Given the description of an element on the screen output the (x, y) to click on. 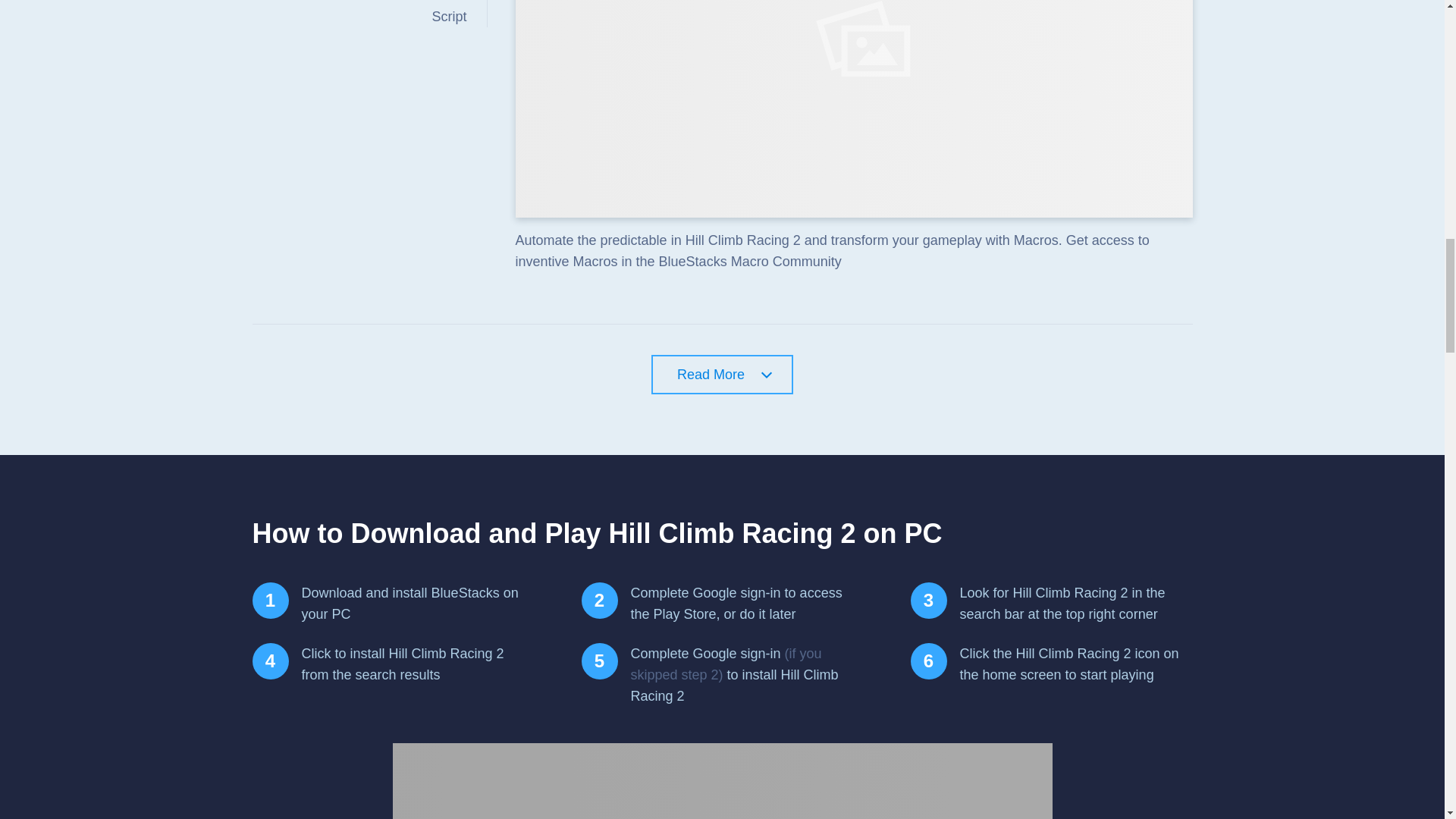
how-to-play-steps - desktop (722, 780)
